Given the description of an element on the screen output the (x, y) to click on. 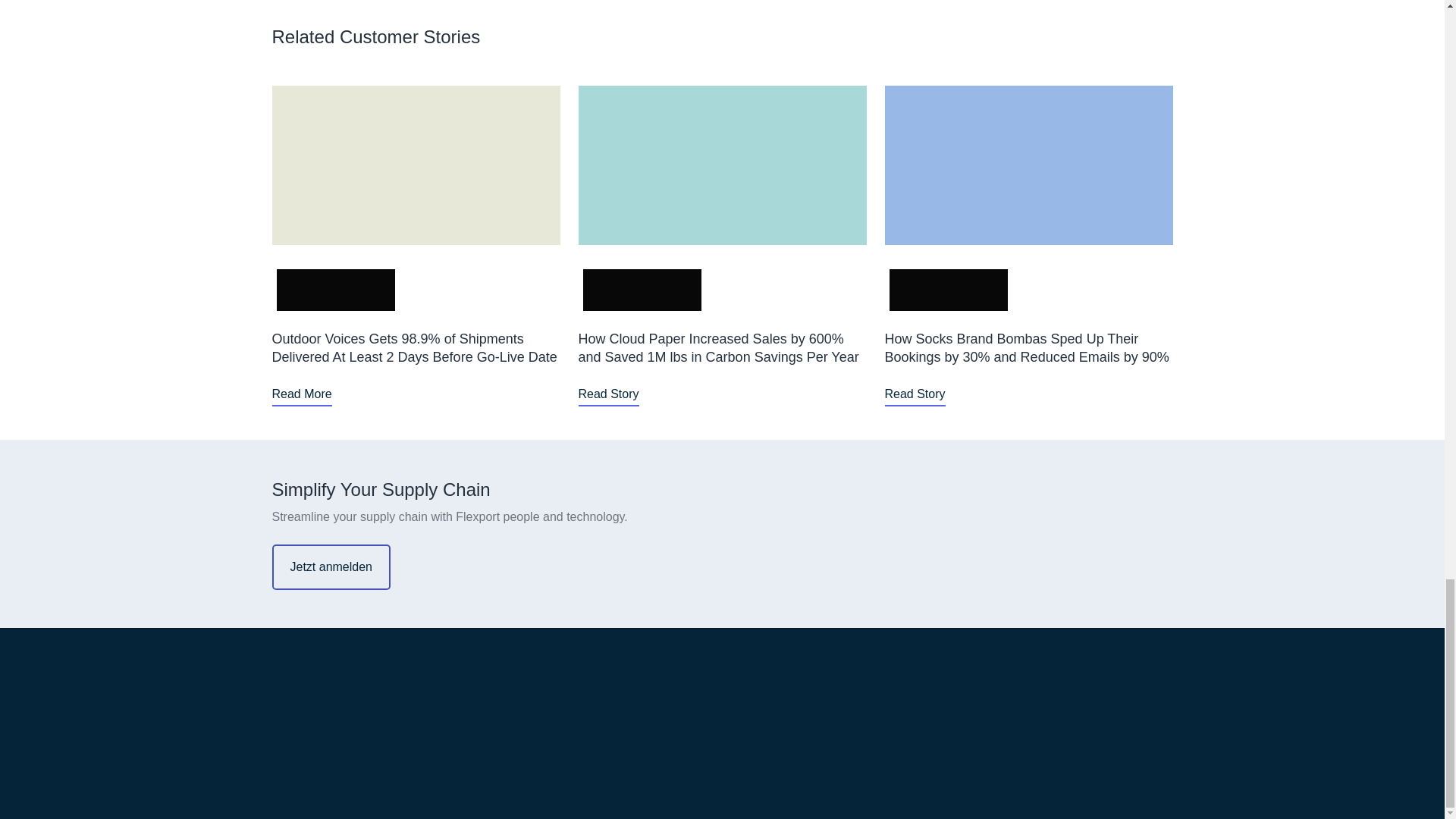
Jetzt anmelden (330, 566)
Read Story (608, 393)
Read More (300, 393)
Read Story (913, 393)
